Given the description of an element on the screen output the (x, y) to click on. 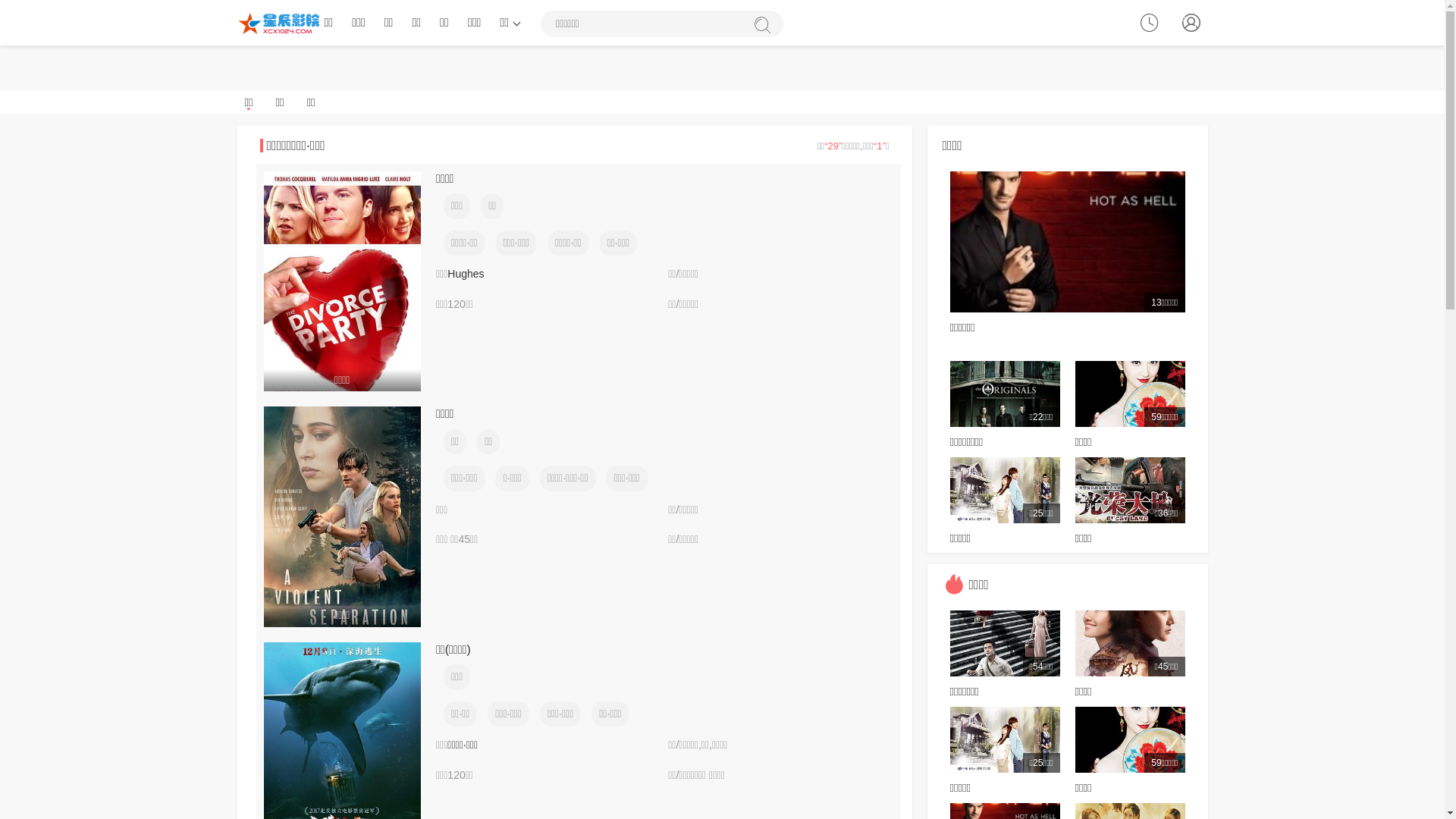
Hughes Element type: text (465, 273)
